Given the description of an element on the screen output the (x, y) to click on. 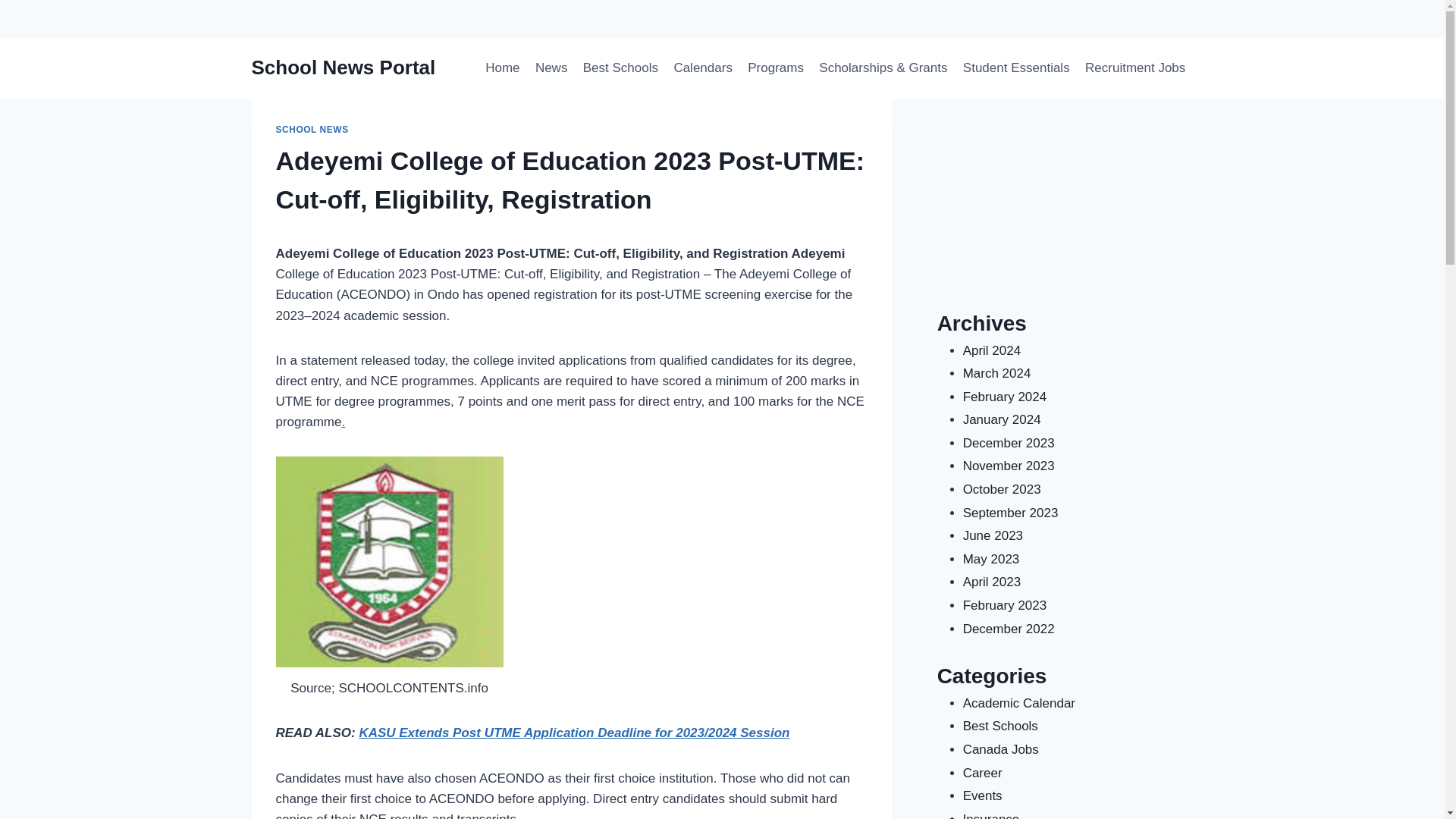
Programs (774, 67)
Calendars (702, 67)
Home (502, 67)
SCHOOL NEWS (312, 129)
. (342, 421)
News (551, 67)
Best Schools (620, 67)
School News Portal (343, 67)
School News Portal (505, 315)
Student Essentials (1016, 67)
Recruitment Jobs (1135, 67)
